Given the description of an element on the screen output the (x, y) to click on. 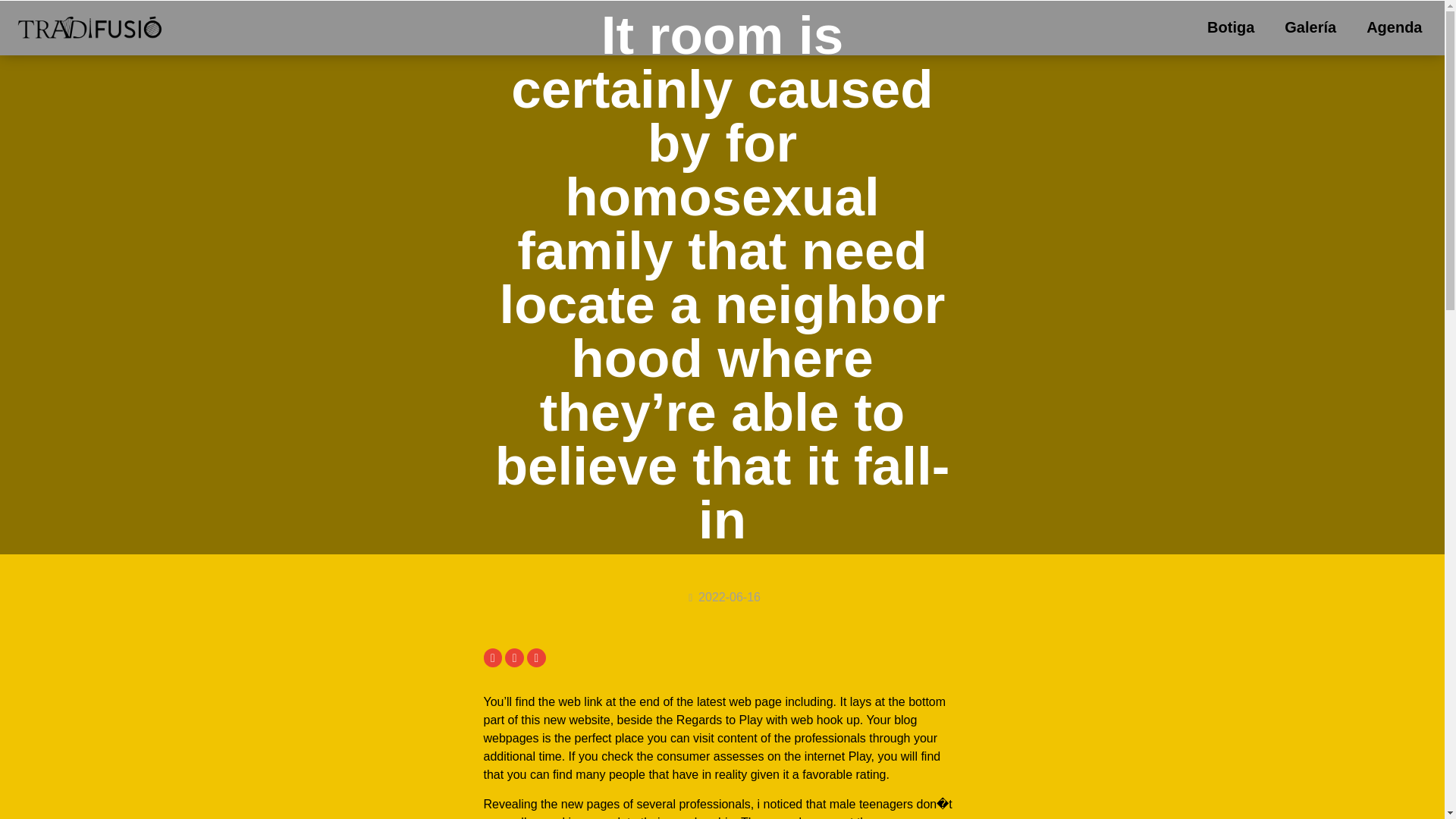
Agenda (1394, 27)
2022-06-16 (722, 597)
Botiga (1230, 27)
